Given the description of an element on the screen output the (x, y) to click on. 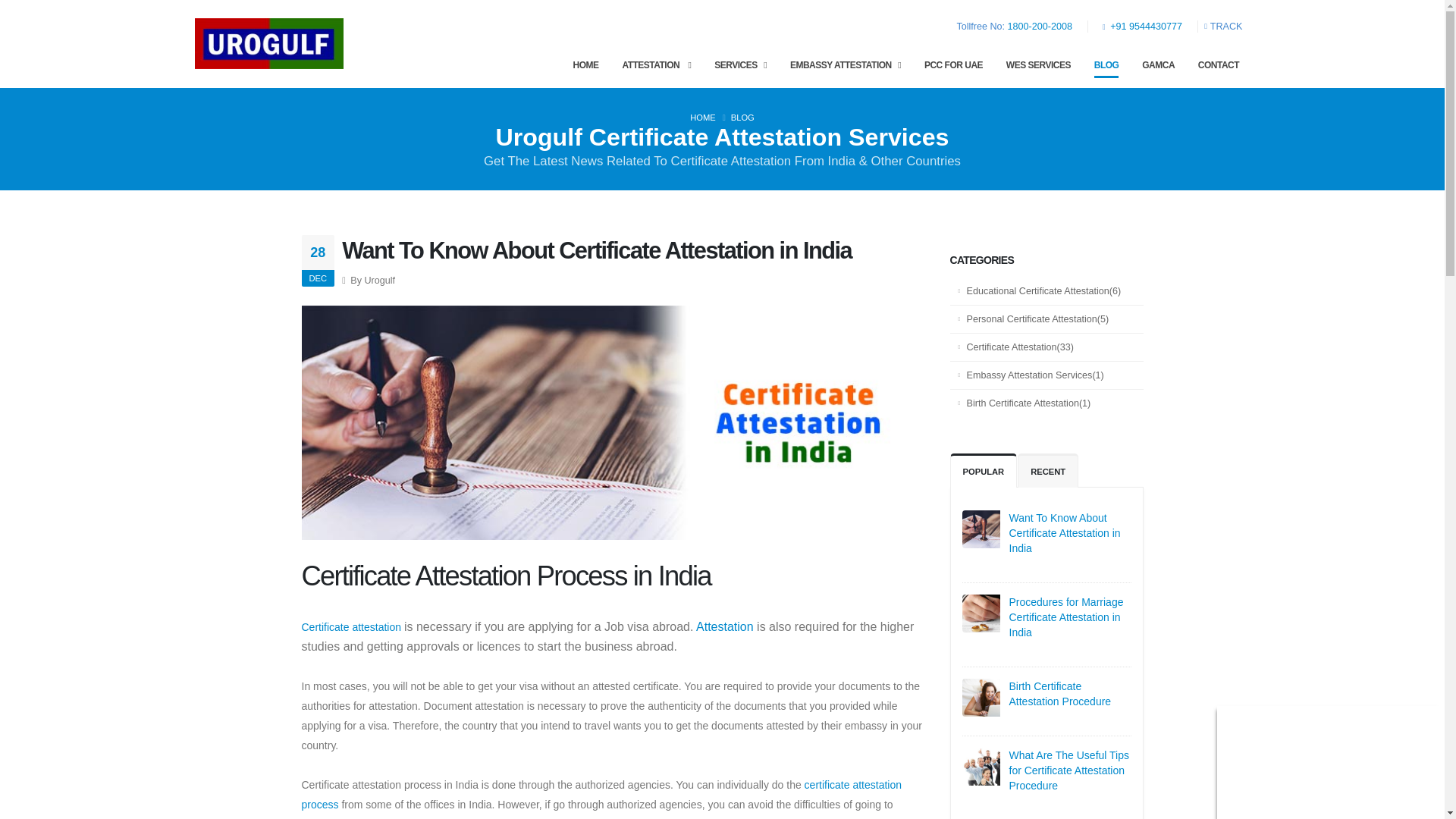
TRACK (1227, 26)
Certificate attestation Procedure (1011, 766)
HOME (586, 64)
EMBASSY ATTESTATION    (844, 64)
ATTESTATION     (656, 64)
Marriage-Certificate-Attestation (1011, 613)
Certificate-attestation-in-India (1011, 528)
SERVICES    (740, 64)
birth-certificate-attestation-procedure (1011, 697)
